Given the description of an element on the screen output the (x, y) to click on. 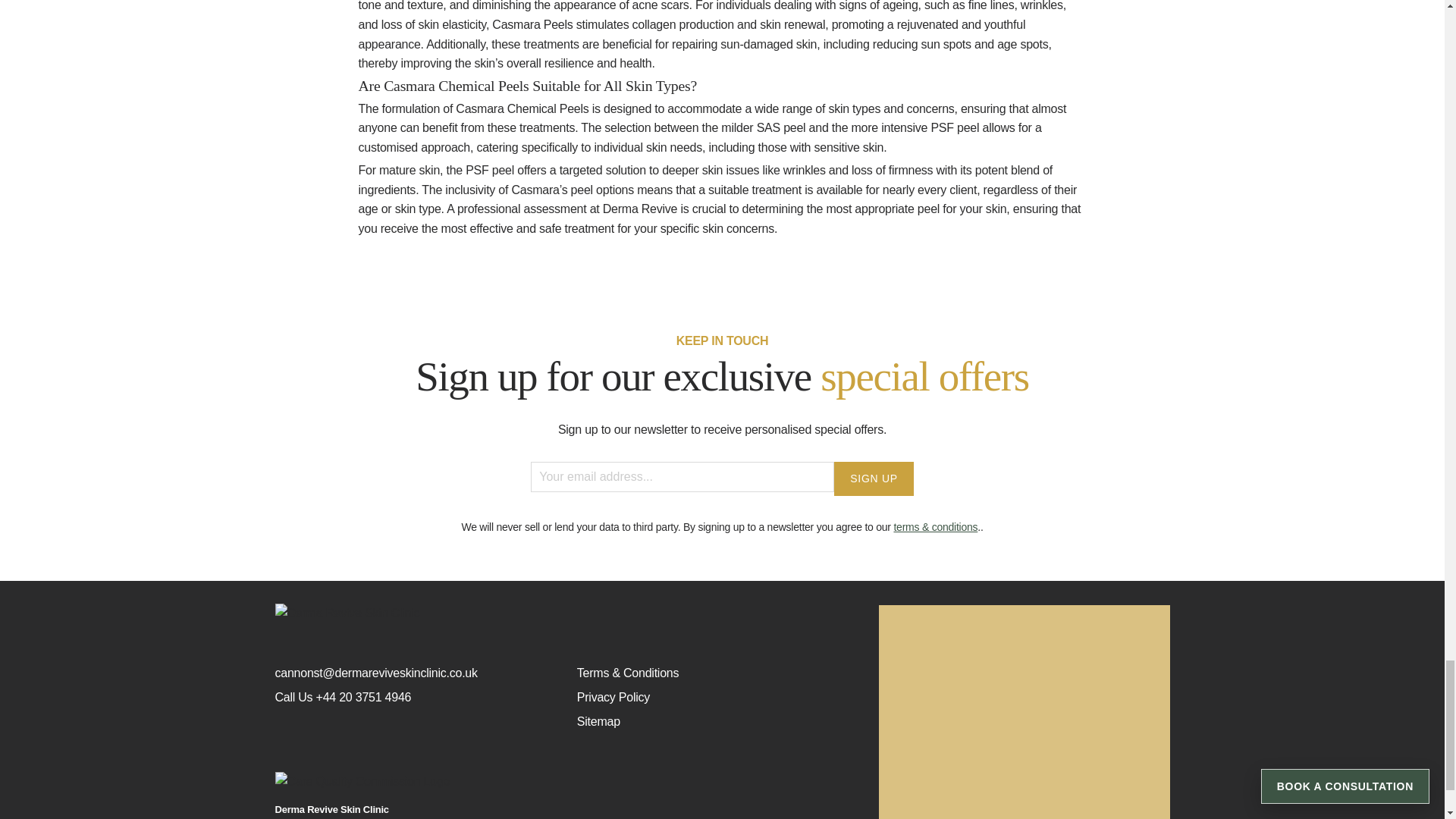
Registered with Care Quality Commission (565, 781)
Sign Up (873, 478)
